Given the description of an element on the screen output the (x, y) to click on. 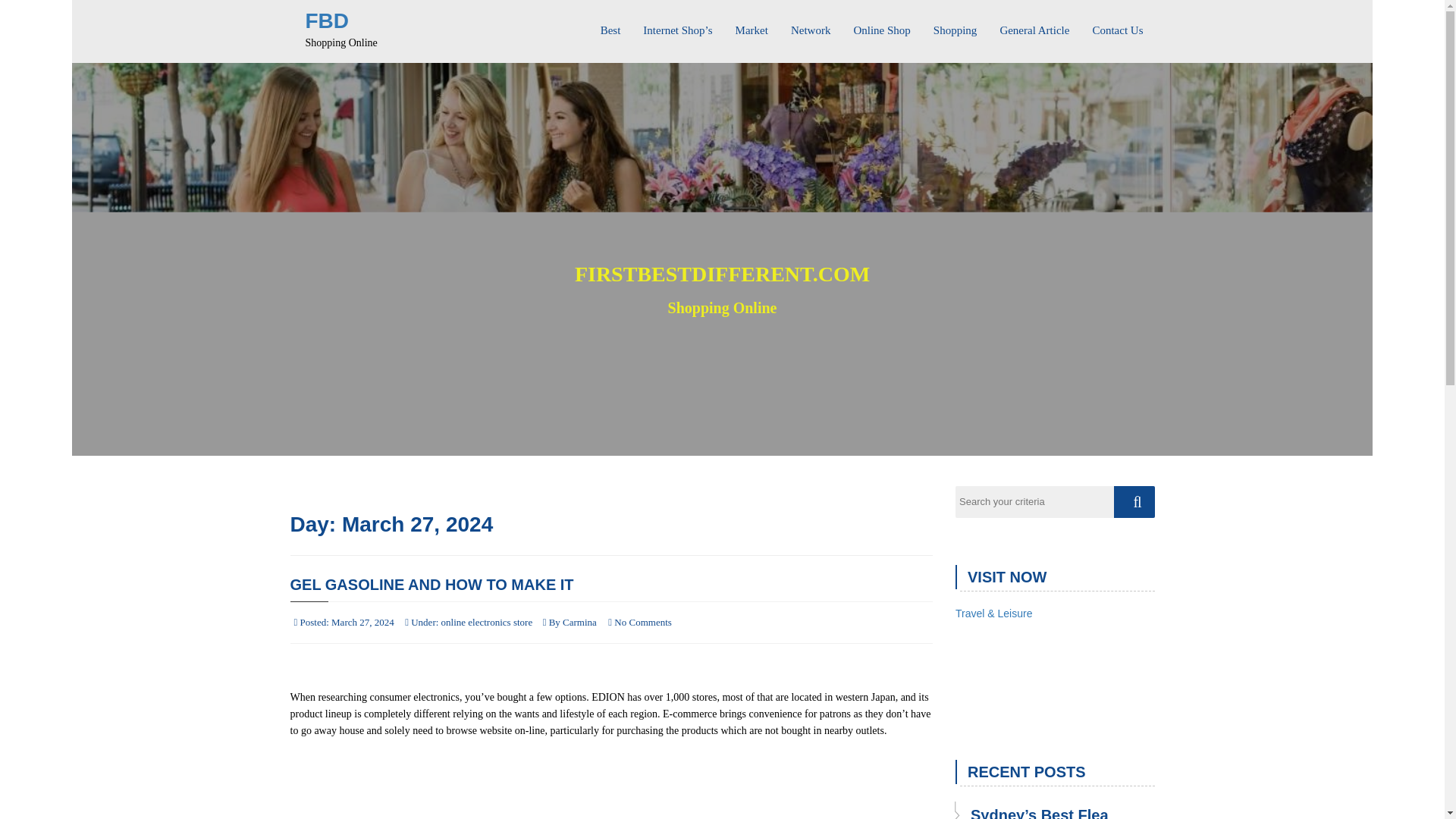
March 27, 2024 (362, 622)
Shopping (954, 24)
No Comments (642, 622)
online electronics store (486, 622)
Carmina (579, 622)
FBD (326, 20)
Online Shop (881, 24)
Market (750, 24)
Best (610, 24)
Network (810, 24)
